Given the description of an element on the screen output the (x, y) to click on. 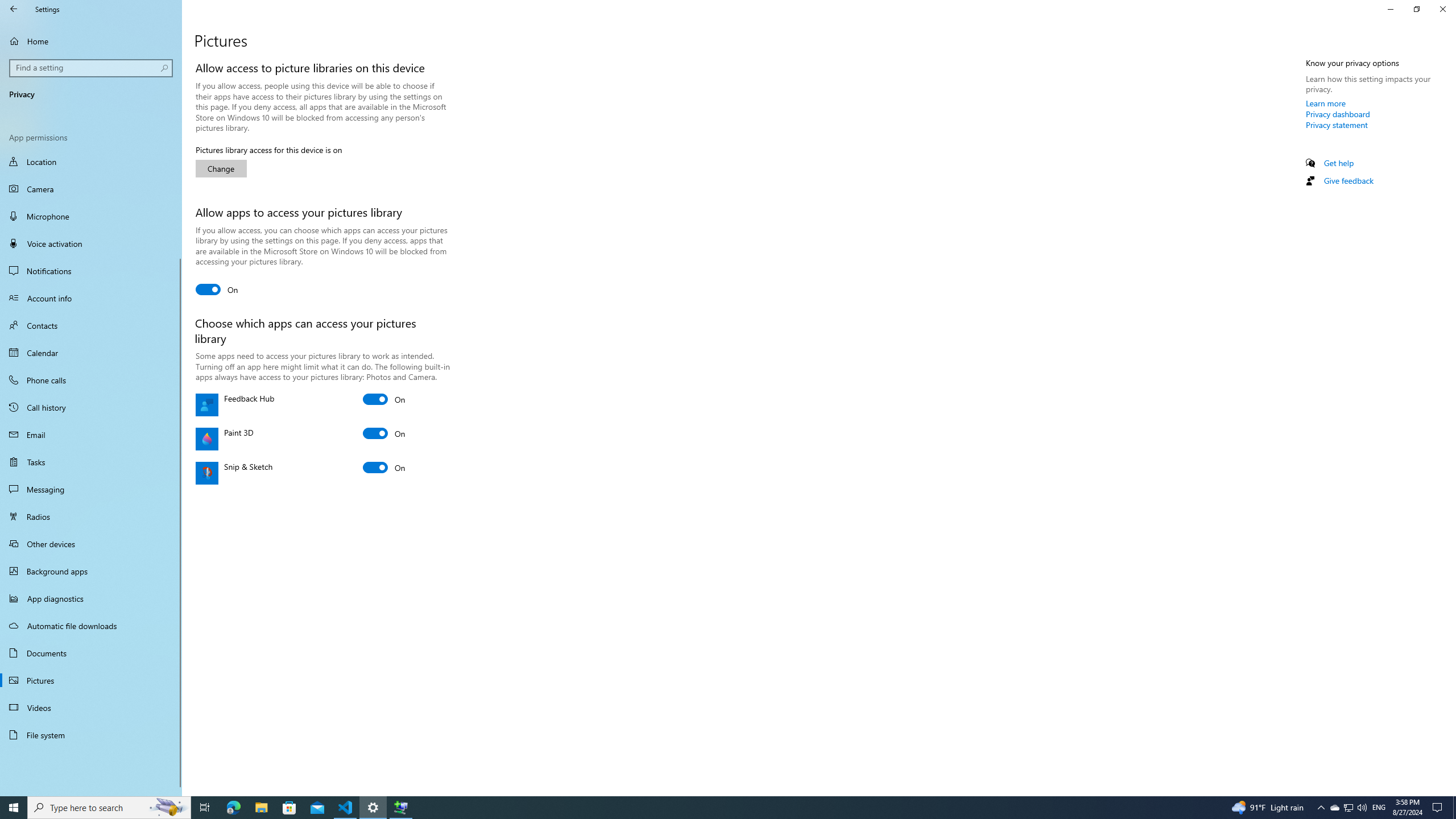
Contacts (91, 325)
Extensible Wizards Host Process - 1 running window (400, 807)
Learn more (1326, 102)
Automatic file downloads (91, 625)
Calendar (91, 352)
Microphone (91, 216)
Messaging (91, 488)
Give feedback (1348, 180)
